Given the description of an element on the screen output the (x, y) to click on. 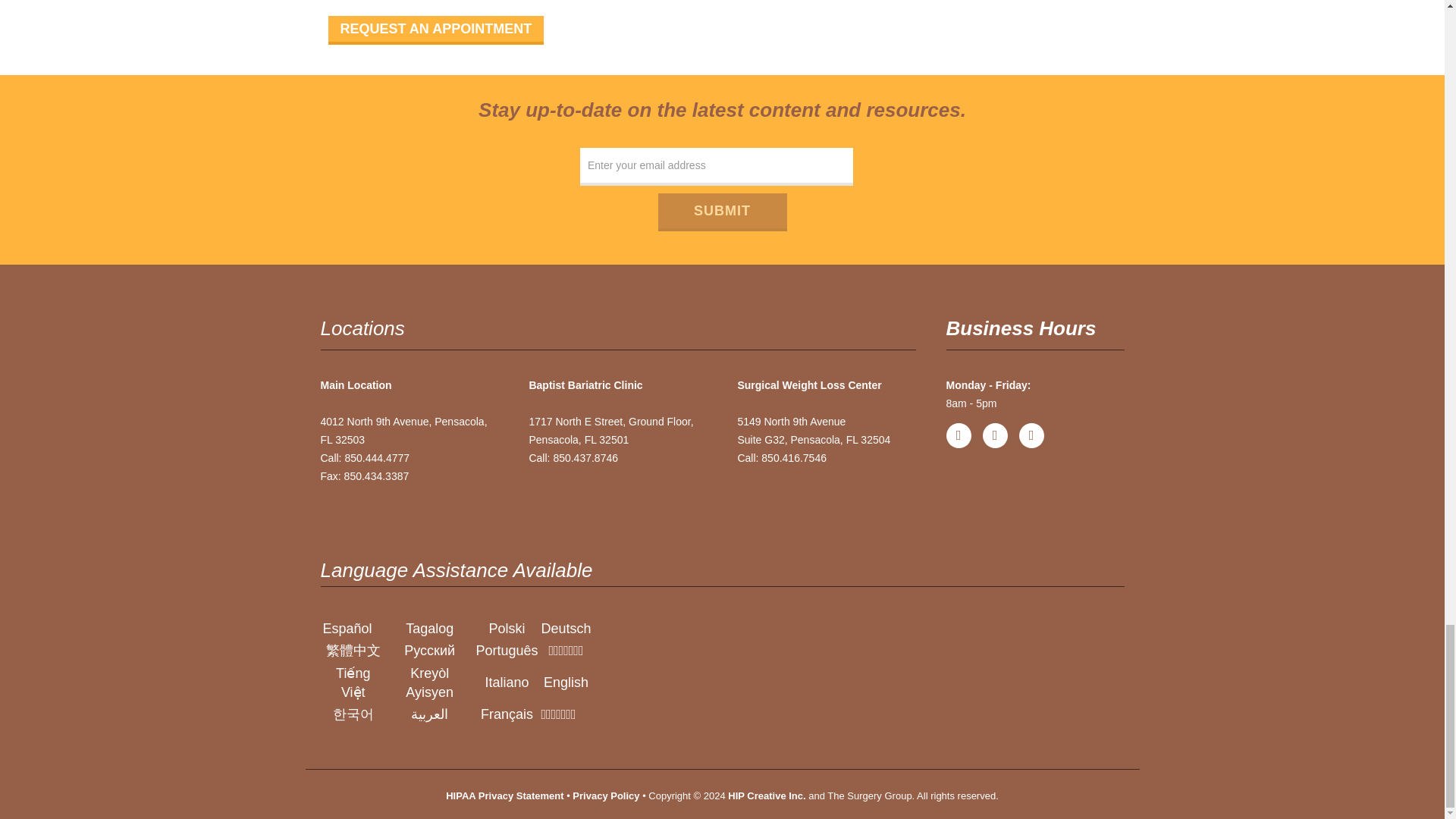
Chinese (353, 650)
Privacy Policy (605, 795)
Tagalog (429, 628)
German (565, 628)
Vietnamese (352, 682)
Russian (429, 650)
Korean (353, 713)
Arabic (429, 713)
Italian (506, 682)
Creole (429, 682)
nfs-partner-badge-white (930, 664)
Thai (557, 713)
French (506, 713)
Spanish (347, 628)
Portugese (506, 650)
